Given the description of an element on the screen output the (x, y) to click on. 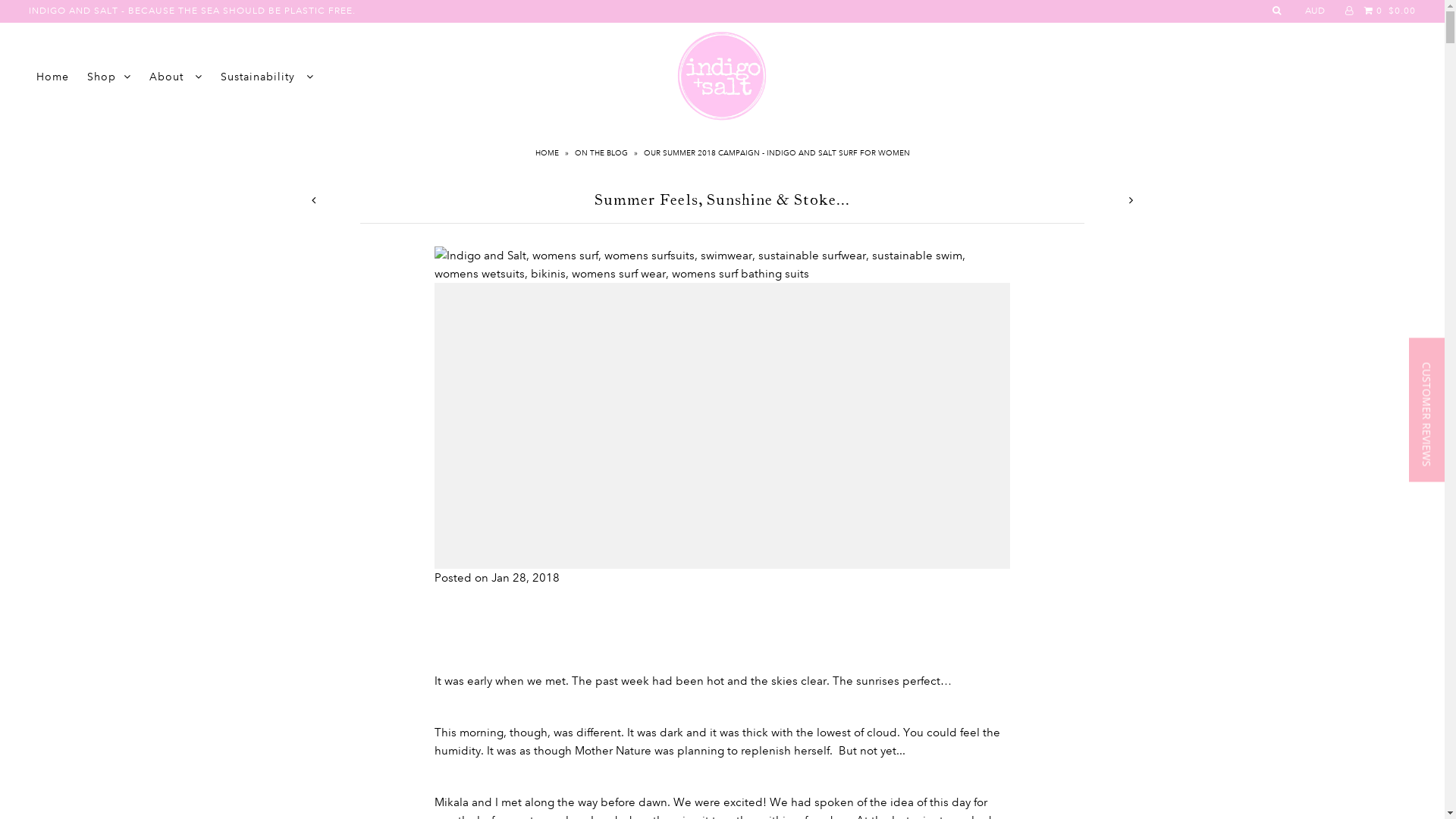
  0  $0.00 Element type: text (1387, 10)
INDIGO AND SALT - BECAUSE THE SEA SHOULD BE PLASTIC FREE. Element type: text (191, 10)
HOME Element type: text (548, 152)
Home Element type: text (52, 76)
Sustainability Element type: text (267, 76)
ON THE BLOG Element type: text (602, 152)
Shop Element type: text (108, 76)
About Element type: text (175, 76)
